Given the description of an element on the screen output the (x, y) to click on. 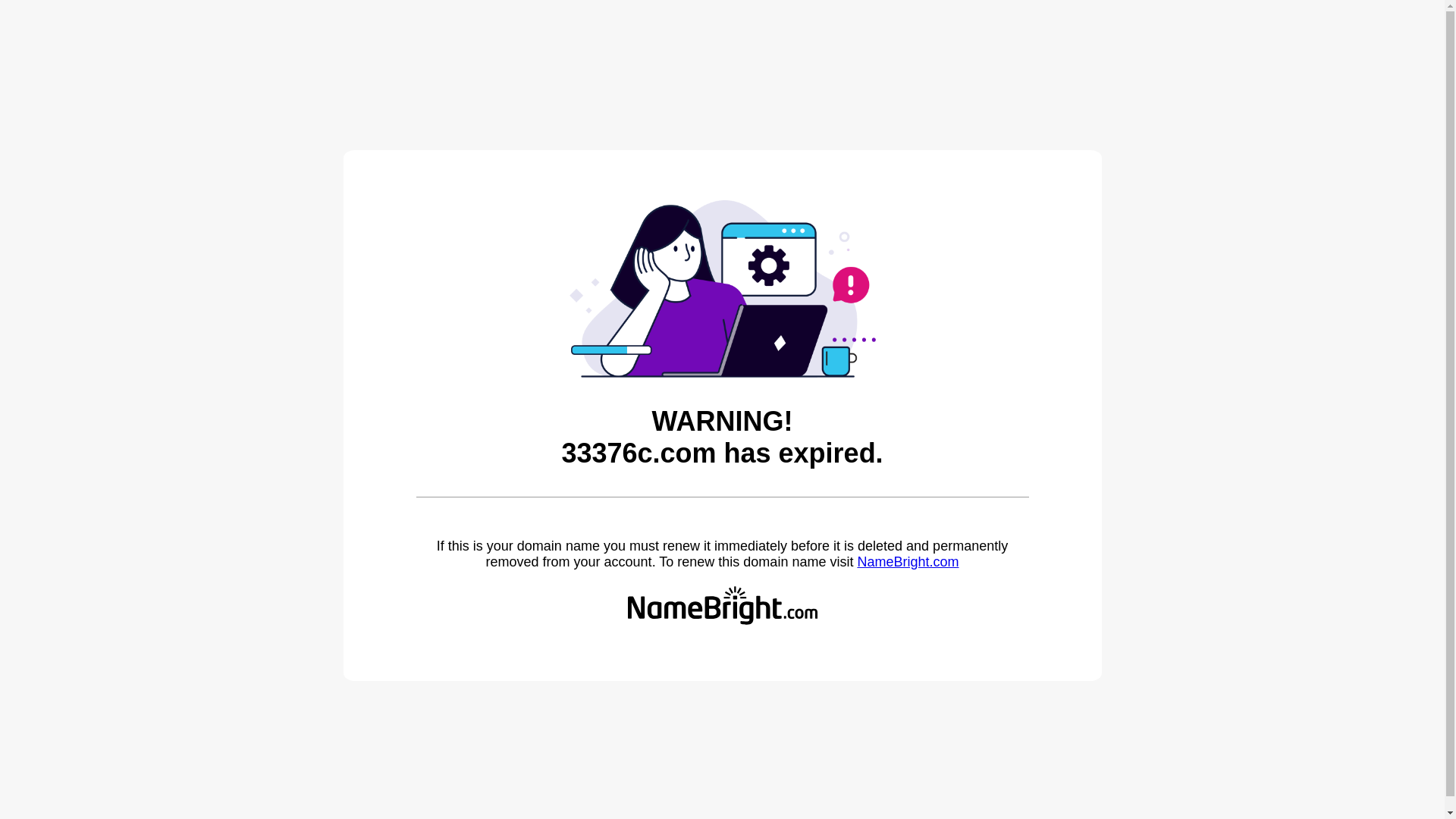
NameBright.com Element type: text (907, 561)
